Given the description of an element on the screen output the (x, y) to click on. 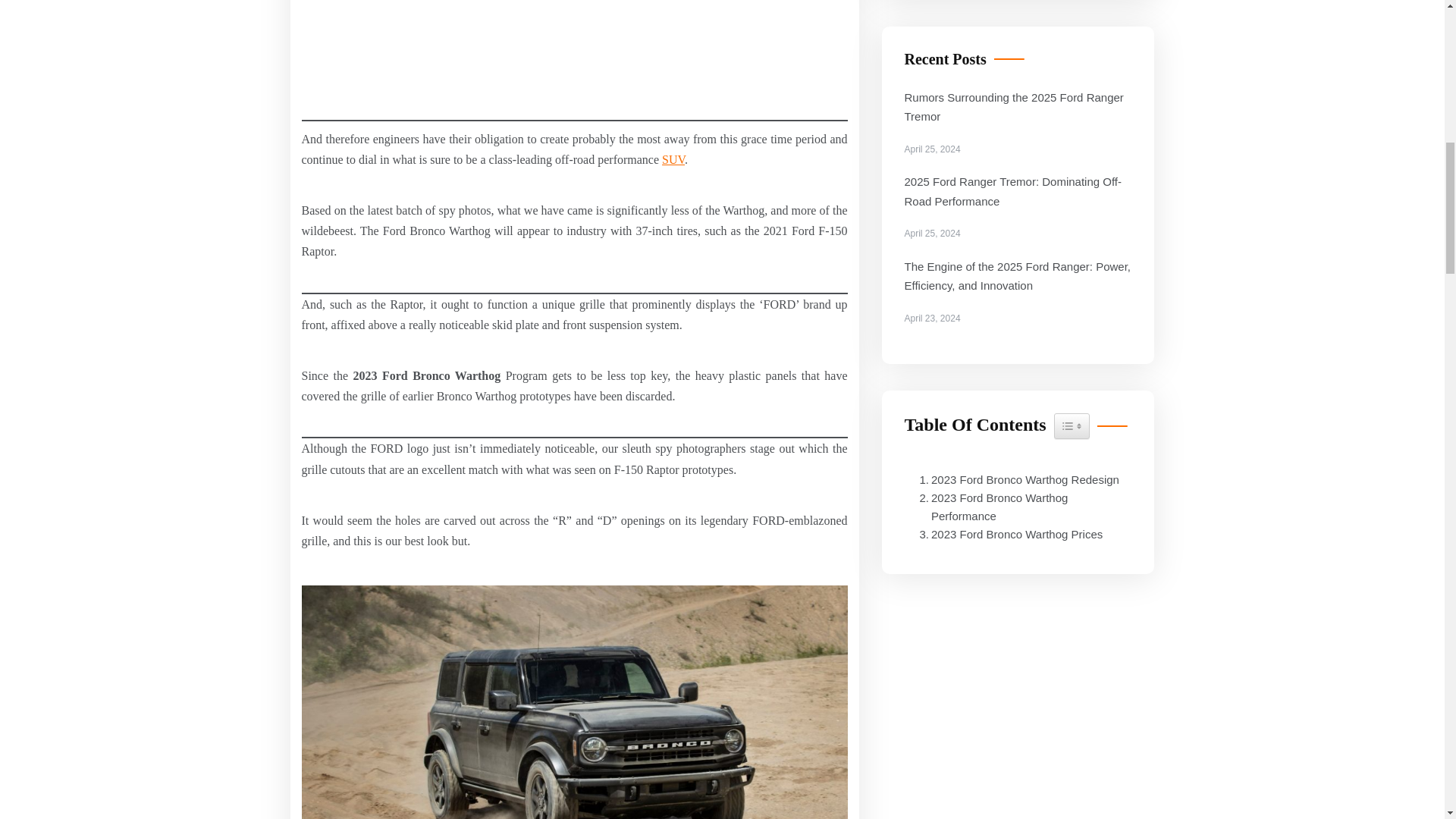
2023 Ford Bronco Warthog (574, 702)
SUV (673, 159)
2023 Ford Bronco Warthog Redesign (1014, 479)
Advertisement (574, 60)
